Given the description of an element on the screen output the (x, y) to click on. 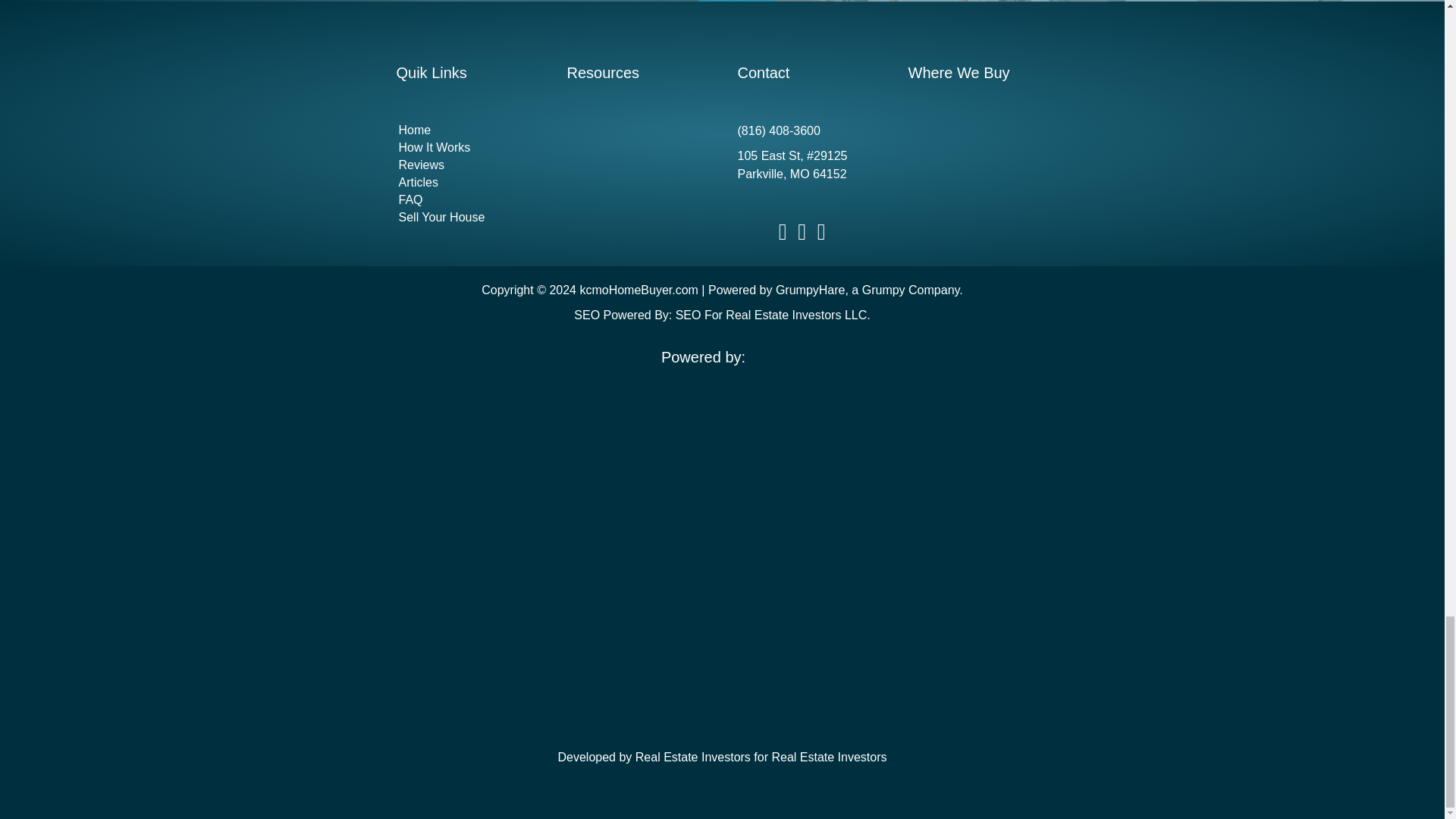
Sell Your House (465, 217)
Reviews (465, 165)
How It Works (465, 147)
Articles (465, 182)
FAQ (465, 199)
Home (465, 130)
